Given the description of an element on the screen output the (x, y) to click on. 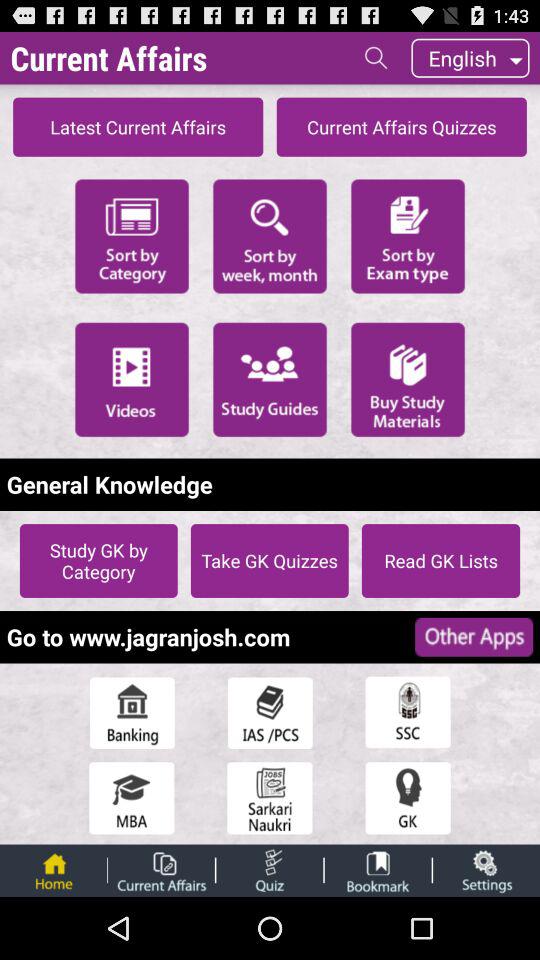
view available study guides (269, 379)
